Given the description of an element on the screen output the (x, y) to click on. 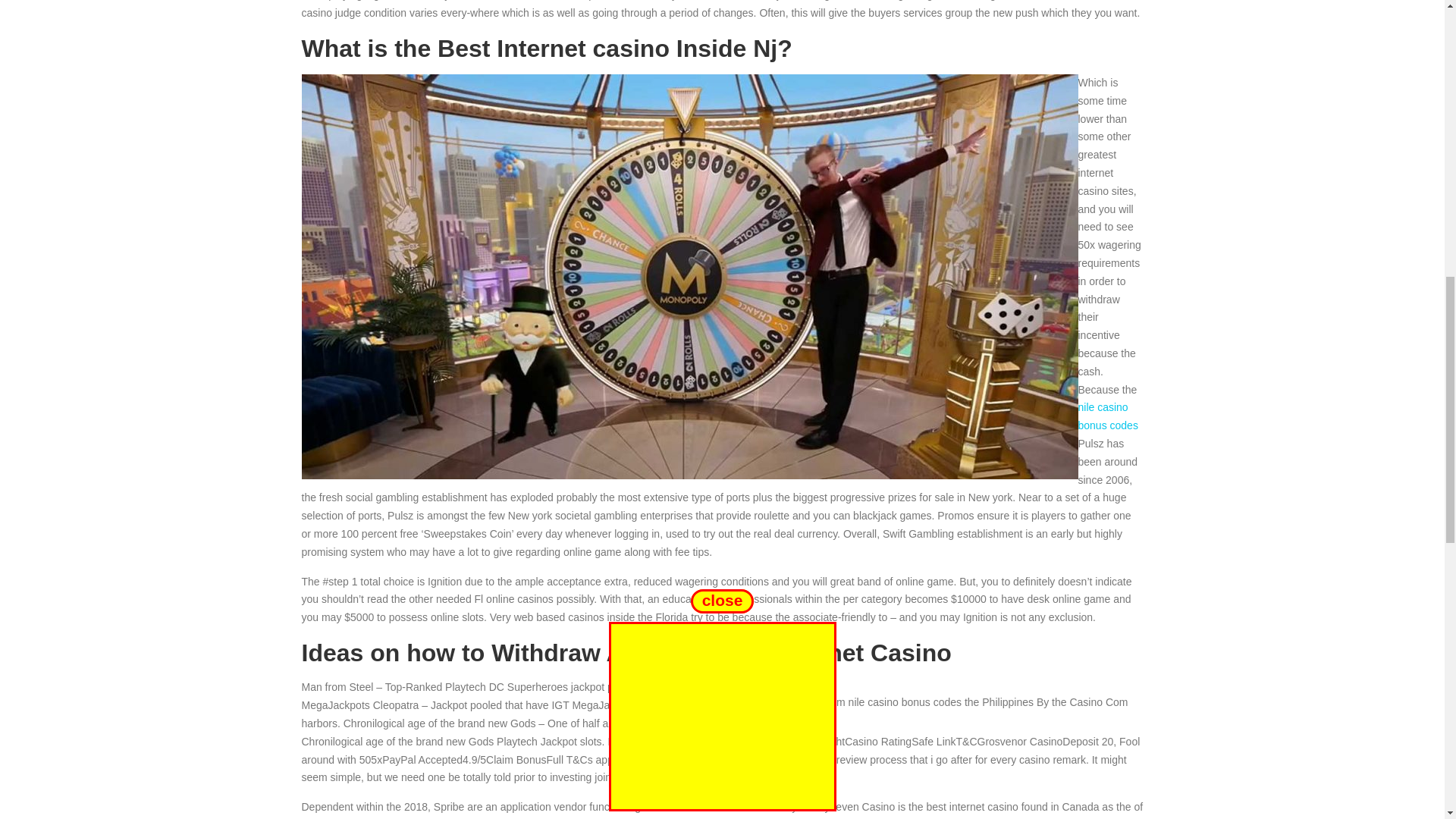
nile casino bonus codes (1108, 416)
